Given the description of an element on the screen output the (x, y) to click on. 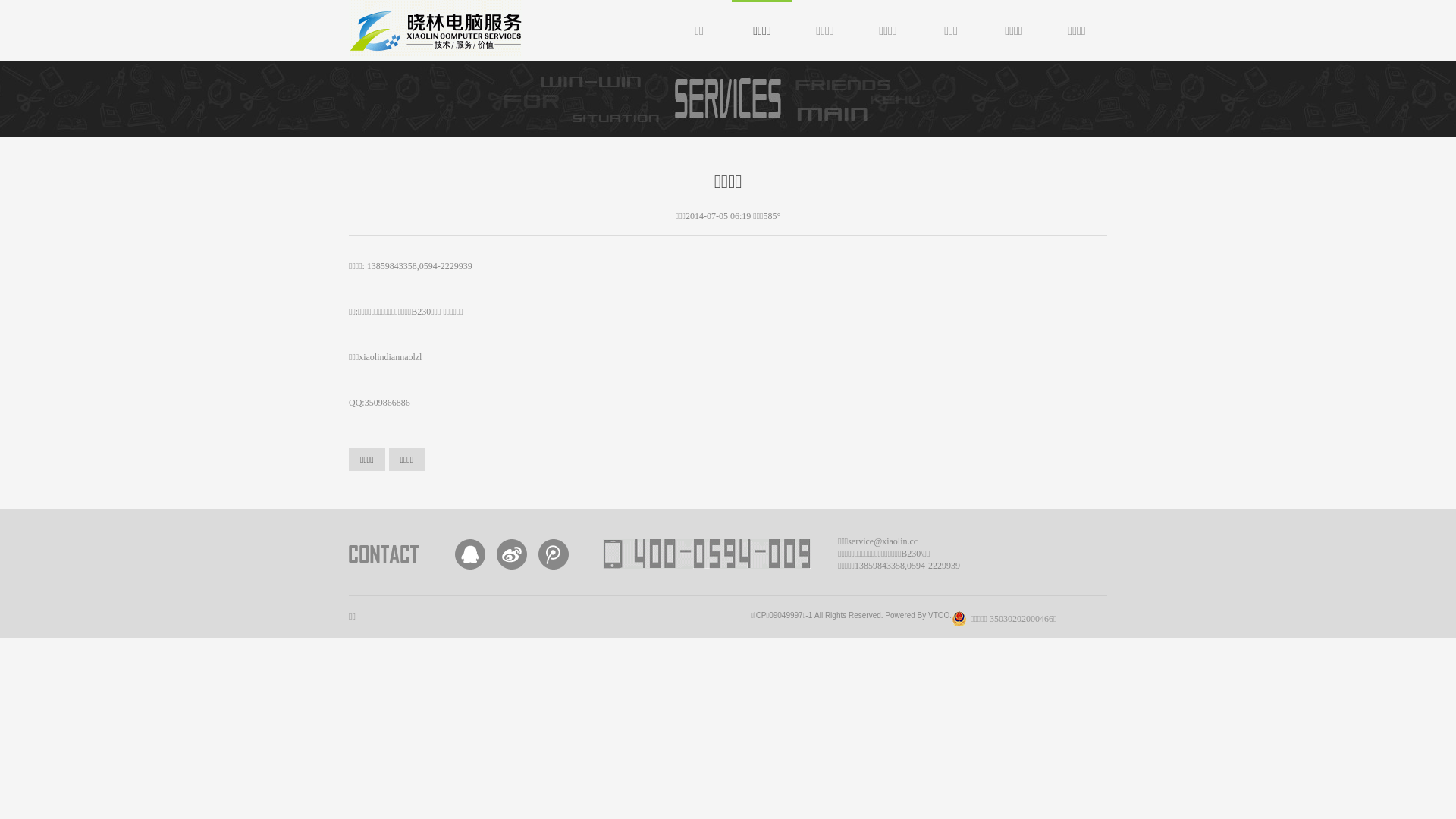
VTOO. Element type: text (939, 615)
service@xiaolin.cc Element type: text (882, 541)
